Given the description of an element on the screen output the (x, y) to click on. 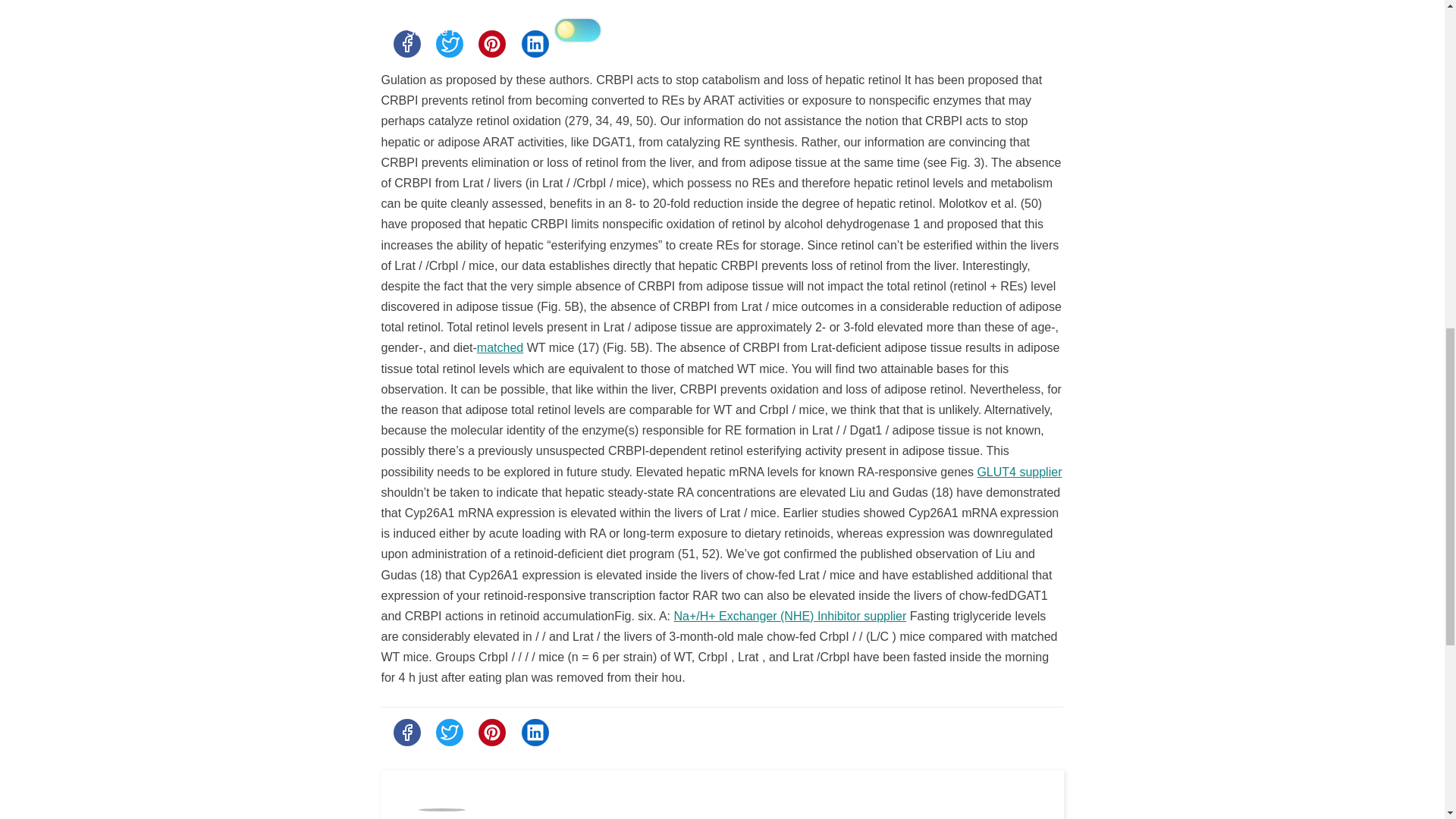
Share this post on Pinterest (492, 732)
matched (499, 347)
Share this post on Pinterest (492, 43)
Share this post on Linkedin (534, 732)
Share this post on Linkedin (534, 43)
Share this post on Facebook (406, 732)
Share this post on Twitter (449, 732)
Share this post on Facebook (406, 43)
GLUT4 supplier (1018, 472)
Share this post on Twitter (449, 43)
